Given the description of an element on the screen output the (x, y) to click on. 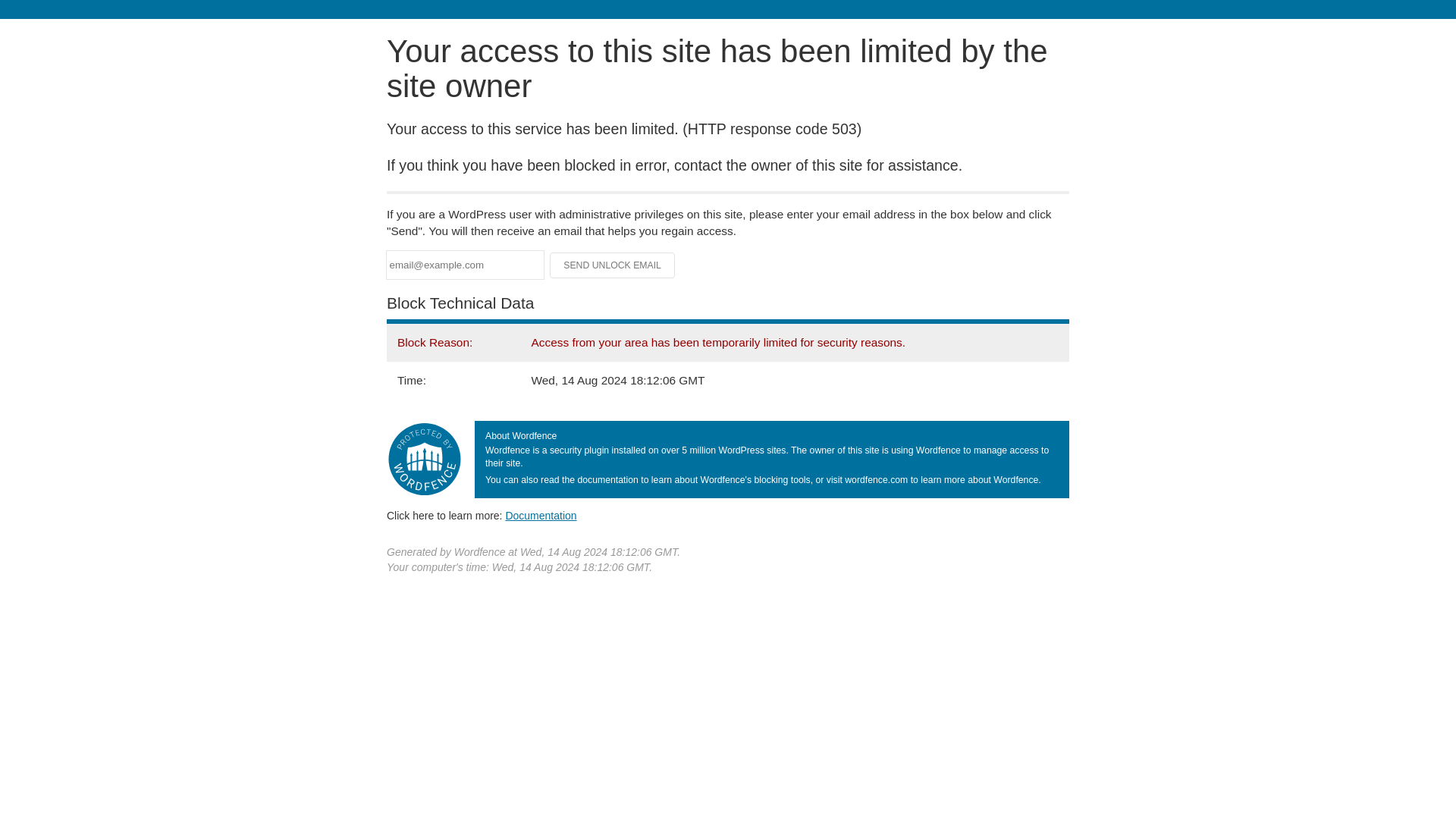
Send Unlock Email (612, 265)
Documentation (540, 515)
Send Unlock Email (612, 265)
